Given the description of an element on the screen output the (x, y) to click on. 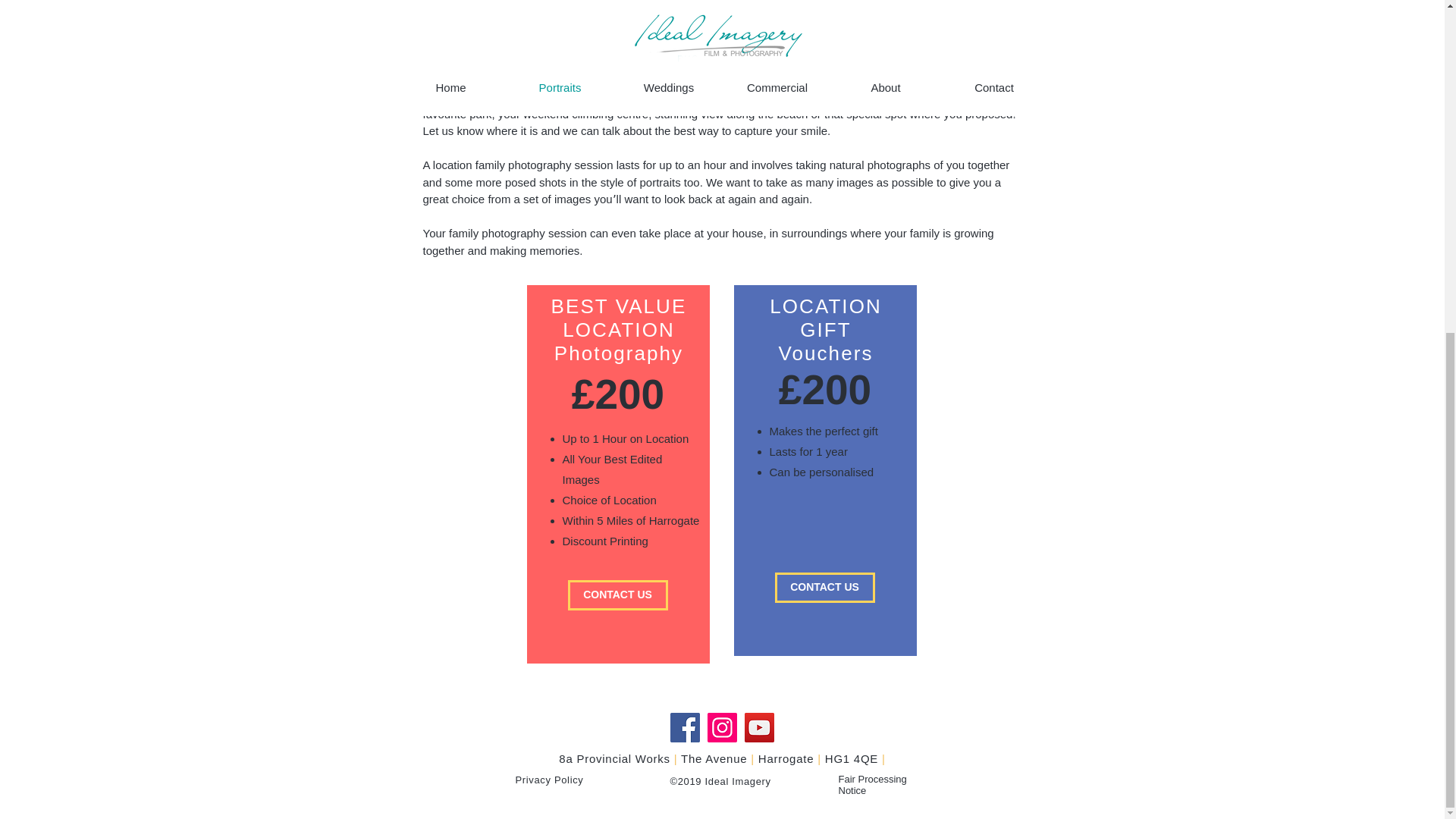
CONTACT US (616, 594)
Privacy Policy (549, 779)
CONTACT US (824, 587)
Fair Processing Notice (872, 784)
